Given the description of an element on the screen output the (x, y) to click on. 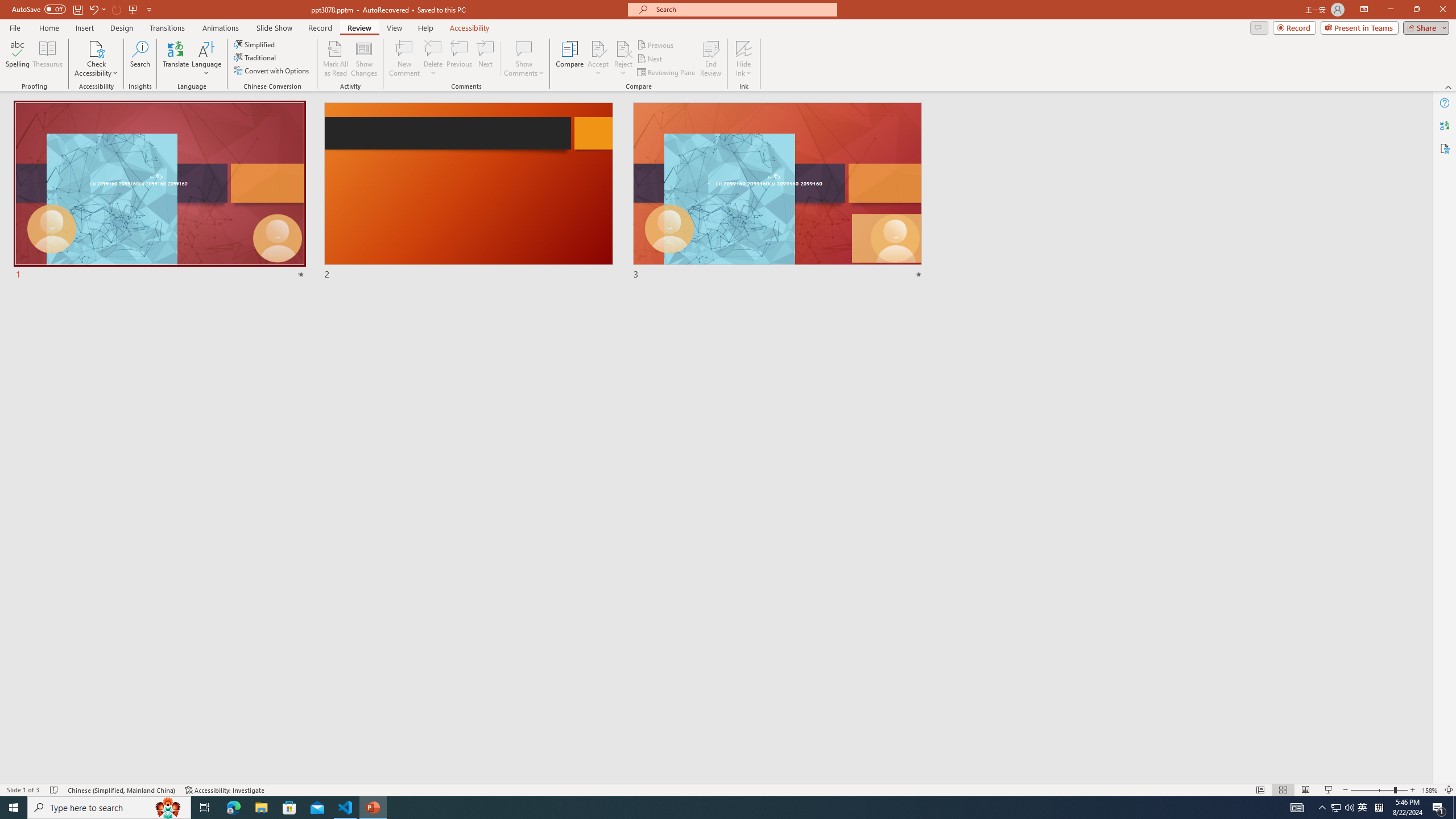
Show Comments (524, 58)
